Given the description of an element on the screen output the (x, y) to click on. 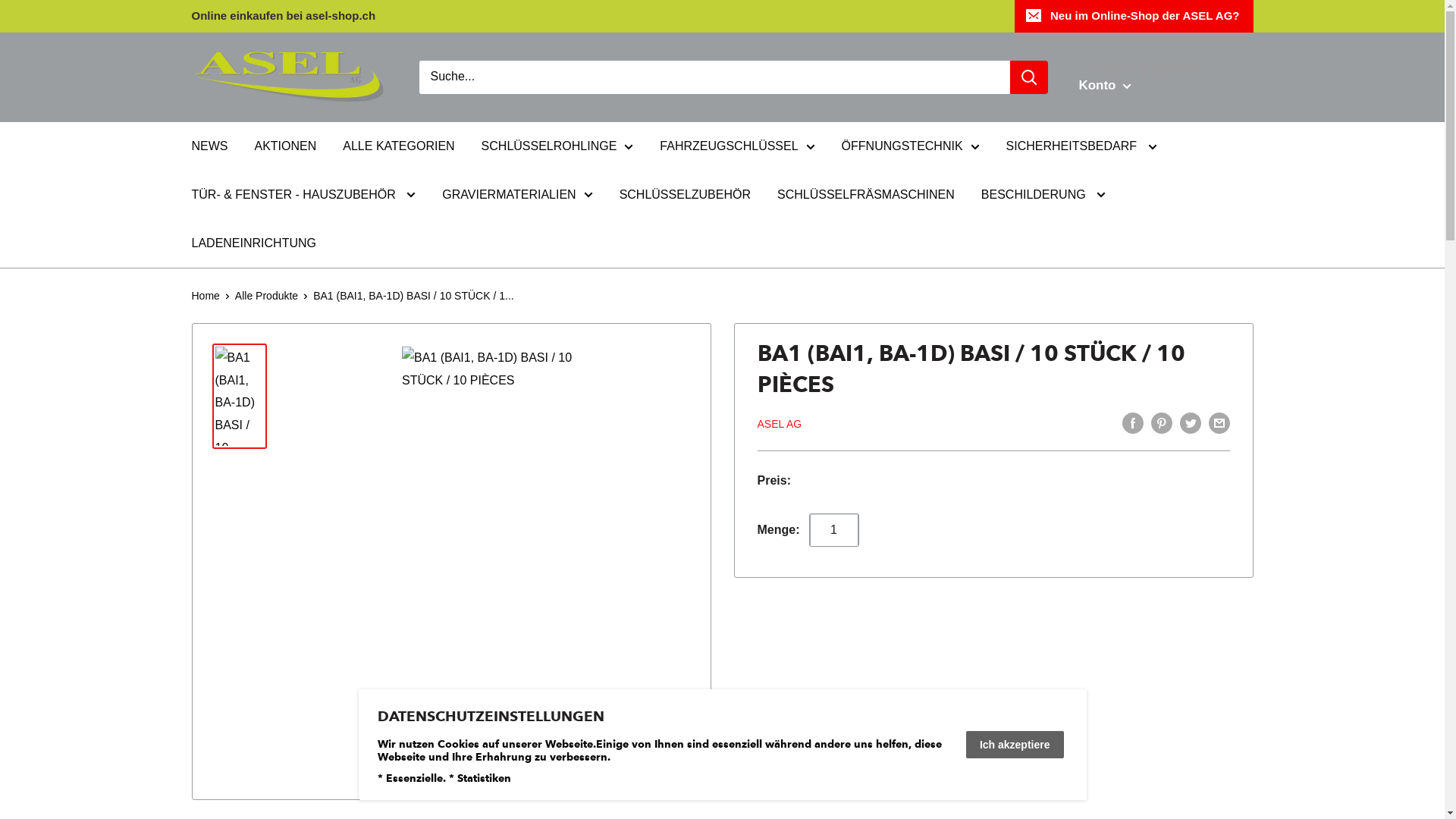
LADENEINRICHTUNG Element type: text (253, 243)
Ich akzeptiere Element type: text (1014, 744)
Konto Element type: text (1104, 85)
BESCHILDERUNG Element type: text (1043, 194)
Home Element type: text (205, 295)
Online einkaufen bei asel-shop.ch Element type: text (283, 15)
NEWS Element type: text (209, 145)
GRAVIERMATERIALIEN Element type: text (517, 194)
Neu im Online-Shop der ASEL AG? Element type: text (1133, 15)
AKTIONEN Element type: text (285, 145)
ALLE KATEGORIEN Element type: text (398, 145)
SICHERHEITSBEDARF Element type: text (1081, 145)
Asel AG Element type: text (289, 76)
Alle Produkte Element type: text (266, 295)
ASEL AG Element type: text (778, 423)
